Given the description of an element on the screen output the (x, y) to click on. 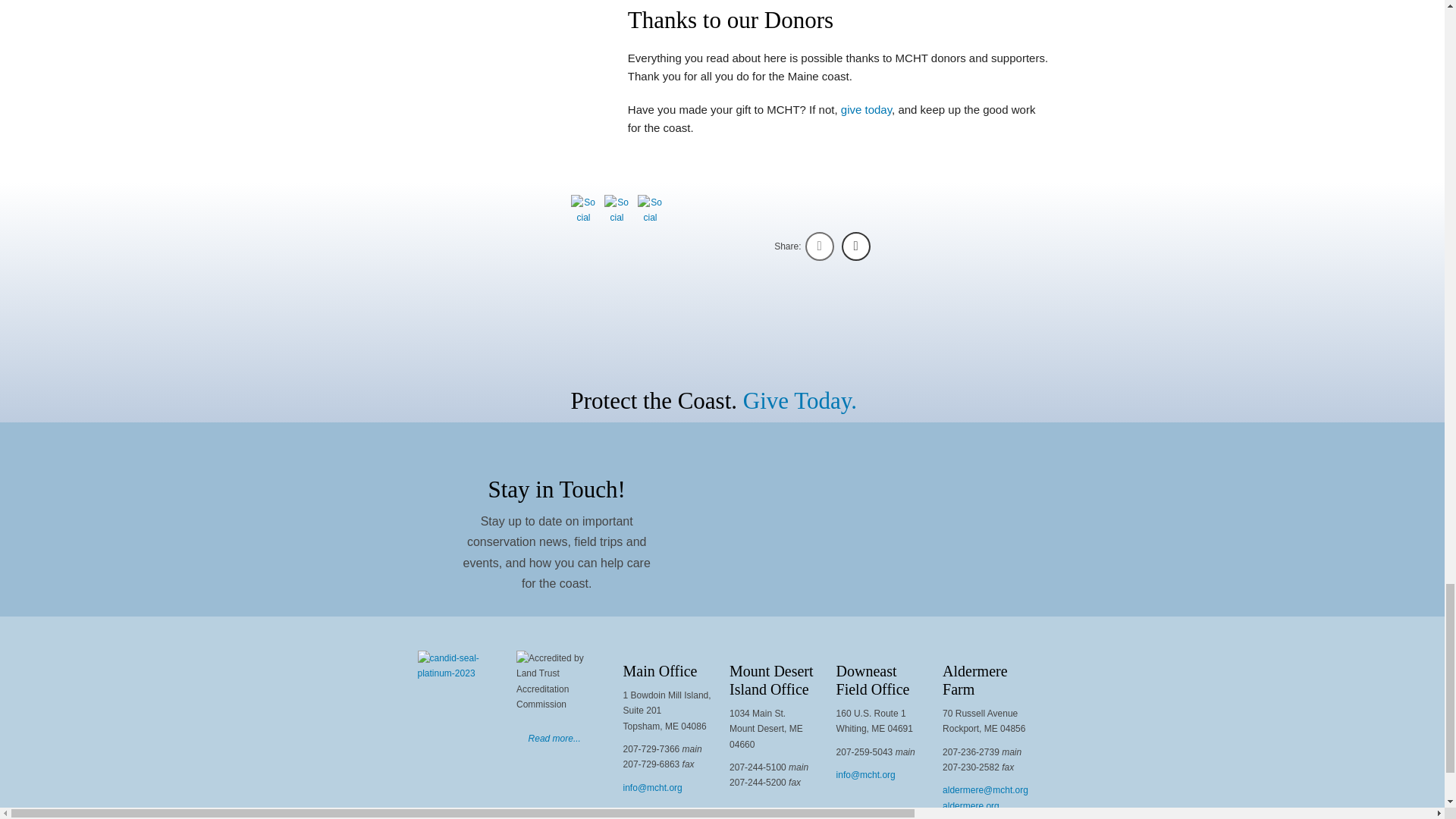
Read more... (554, 738)
give today (866, 109)
Give Today. (799, 400)
